Given the description of an element on the screen output the (x, y) to click on. 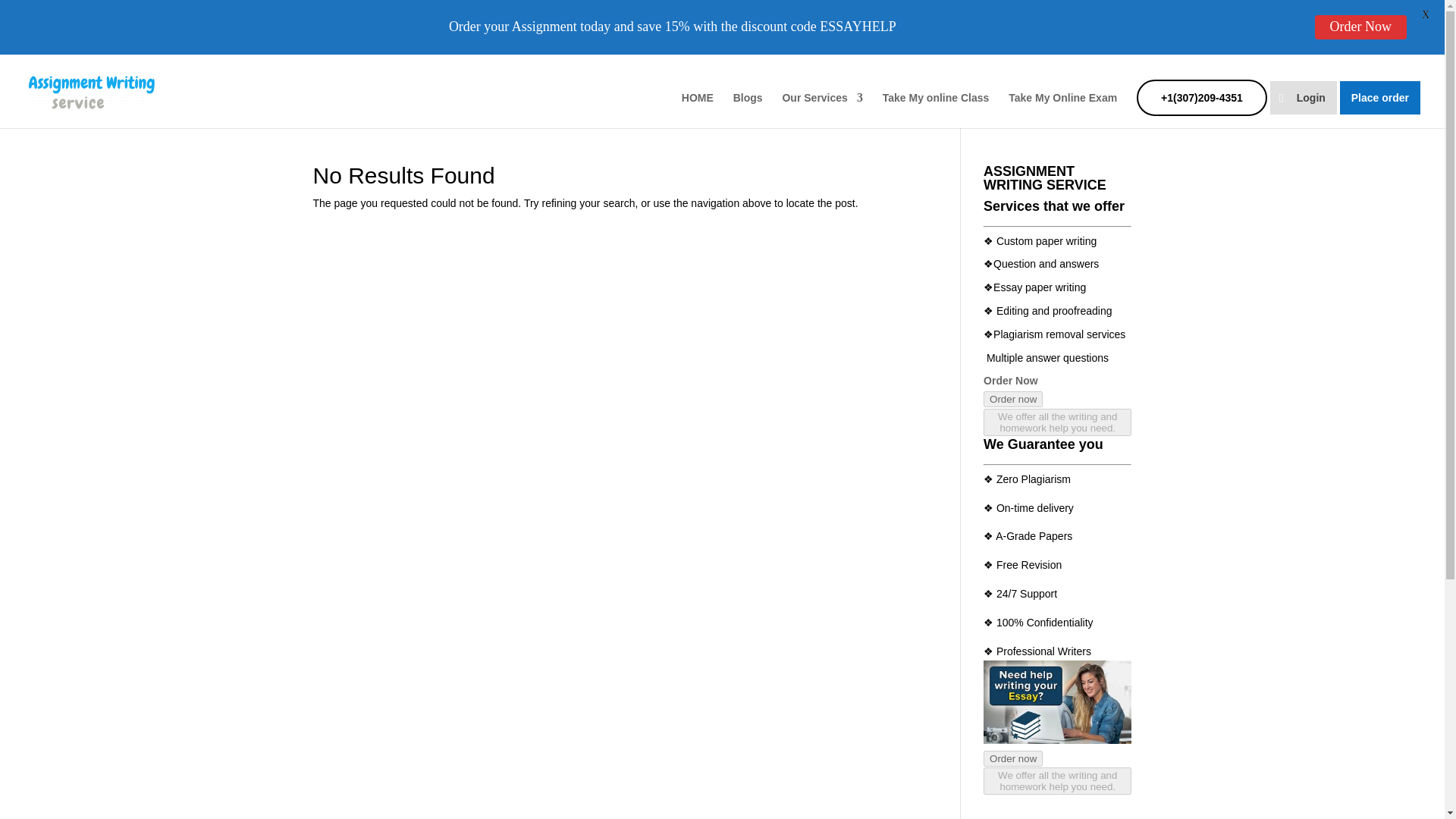
HOME (697, 109)
Place order (1380, 97)
Order now (1013, 398)
Order now (1013, 758)
Order now (1013, 399)
Take My Online Exam (1062, 109)
We offer all the writing and homework help you need. (1057, 780)
Take My online Class (936, 109)
We offer all the writing and homework help you need. (1057, 786)
Order Now (1011, 380)
